Given the description of an element on the screen output the (x, y) to click on. 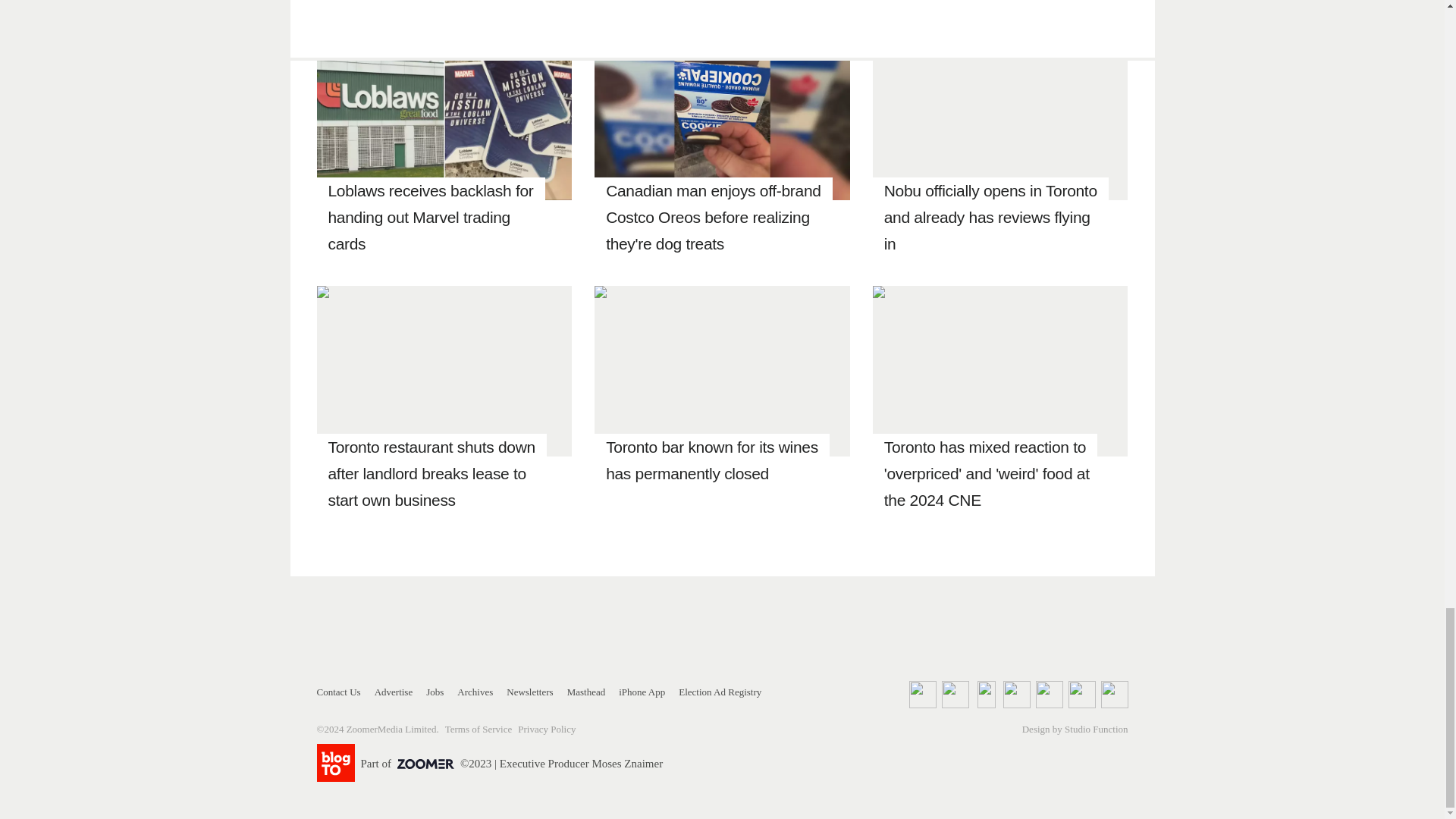
Advertise (393, 691)
Archives (475, 691)
Jobs (435, 691)
Contact Us (339, 691)
